Given the description of an element on the screen output the (x, y) to click on. 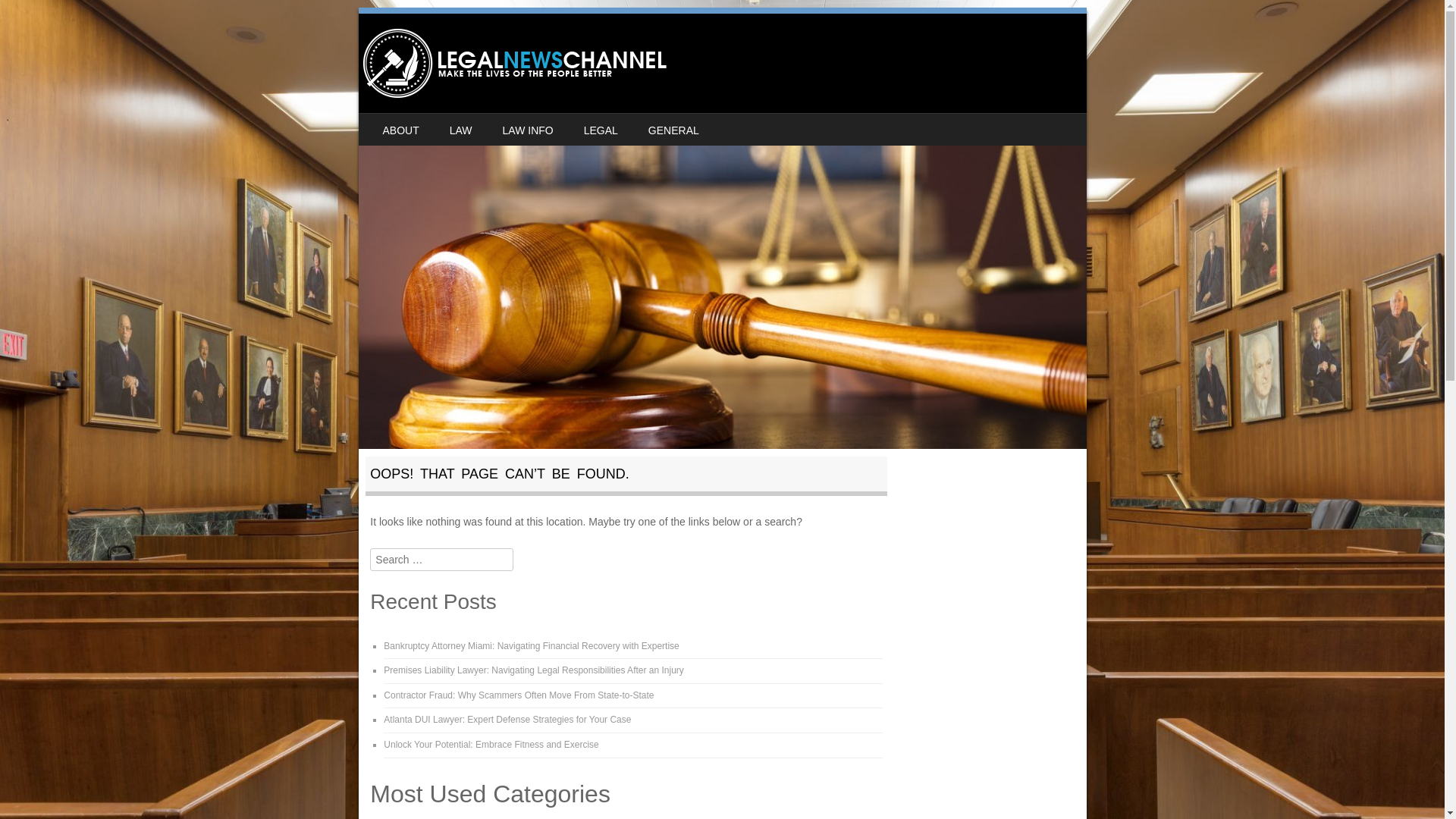
Skip to content (405, 123)
Search (33, 17)
LEGAL (601, 129)
Legal News Channel (513, 62)
ABOUT (399, 129)
LAW (460, 129)
SKIP TO CONTENT (405, 123)
LAW INFO (528, 129)
GENERAL (673, 129)
